Given the description of an element on the screen output the (x, y) to click on. 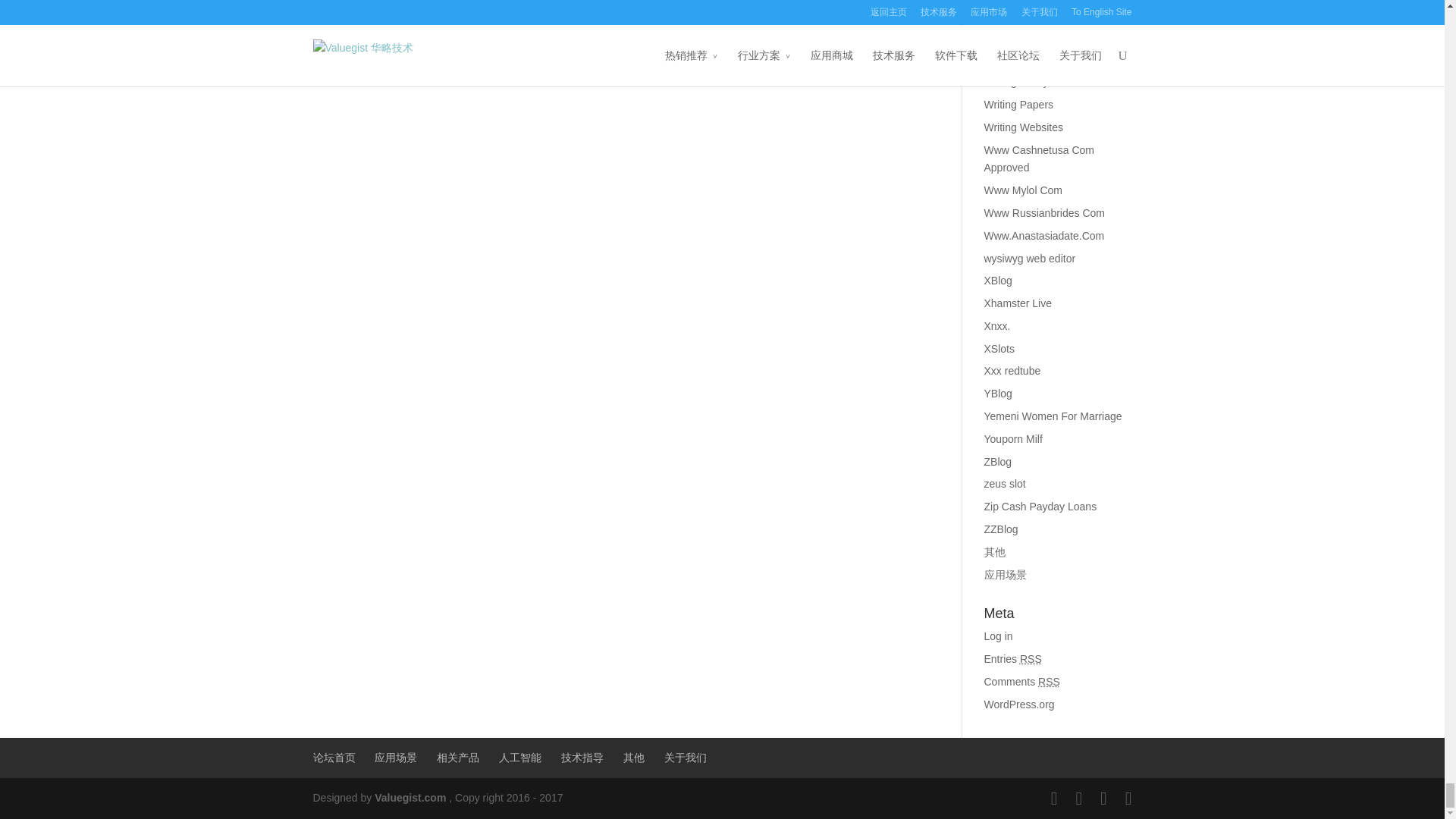
Really Simple Syndication (1048, 681)
Really Simple Syndication (1031, 658)
